Given the description of an element on the screen output the (x, y) to click on. 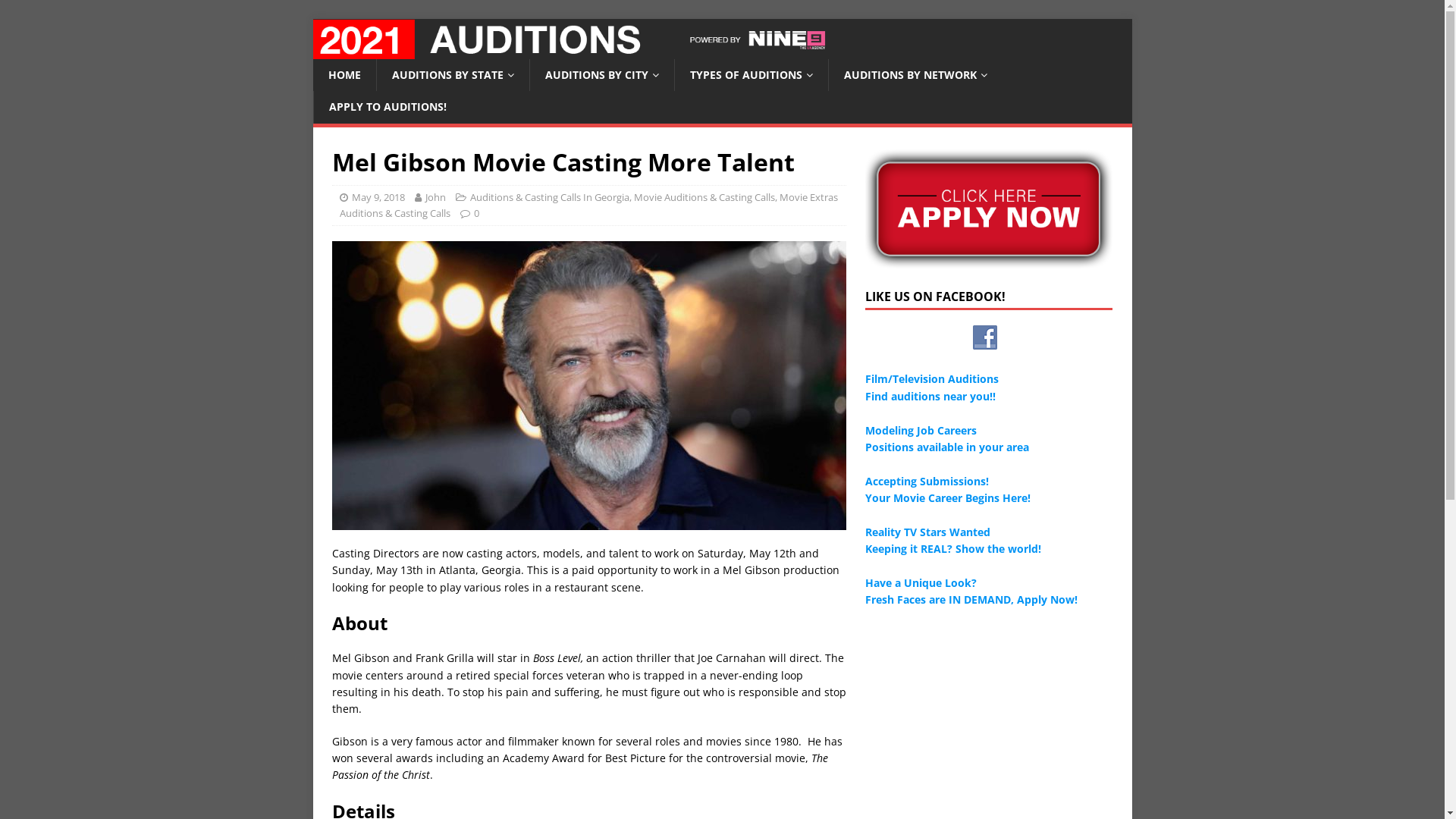
APPLY TO AUDITIONS! Element type: text (386, 106)
HOME Element type: text (343, 75)
0 Element type: text (475, 212)
Positions available in your area Element type: text (947, 446)
Your Movie Career Begins Here! Element type: text (947, 497)
Fresh Faces are IN DEMAND, Apply Now! Element type: text (971, 599)
John Element type: text (434, 196)
Accepting Submissions! Element type: text (926, 480)
AUDITIONS BY NETWORK Element type: text (915, 75)
mel-gibson Element type: hover (589, 385)
Keeping it REAL? Show the world! Element type: text (953, 548)
AUDITIONS BY CITY Element type: text (601, 75)
Like Us! Facebook Element type: hover (984, 337)
Modeling Job Careers Element type: text (920, 430)
2021 Auditions Database Element type: hover (721, 49)
Film/Television Auditions Element type: text (931, 378)
Movie Extras Auditions & Casting Calls Element type: text (588, 204)
TYPES OF AUDITIONS Element type: text (750, 75)
Movie Auditions & Casting Calls Element type: text (704, 196)
Reality TV Stars Wanted Element type: text (927, 531)
Find auditions near you!! Element type: text (930, 396)
AUDITIONS BY STATE Element type: text (452, 75)
Have a Unique Look? Element type: text (920, 582)
May 9, 2018 Element type: text (377, 196)
Auditions & Casting Calls In Georgia Element type: text (549, 196)
